Given the description of an element on the screen output the (x, y) to click on. 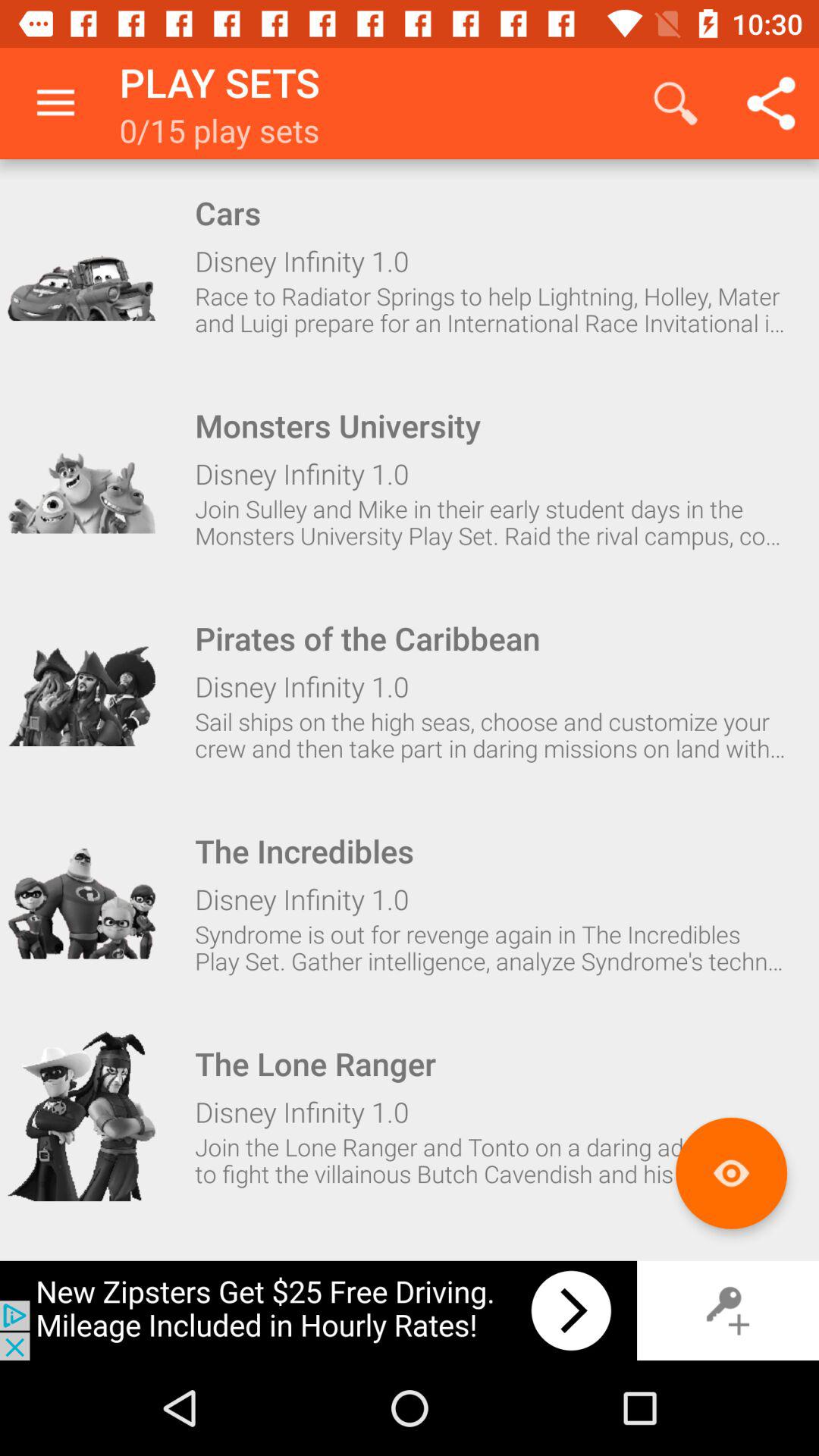
go to advertisement (318, 1310)
